Given the description of an element on the screen output the (x, y) to click on. 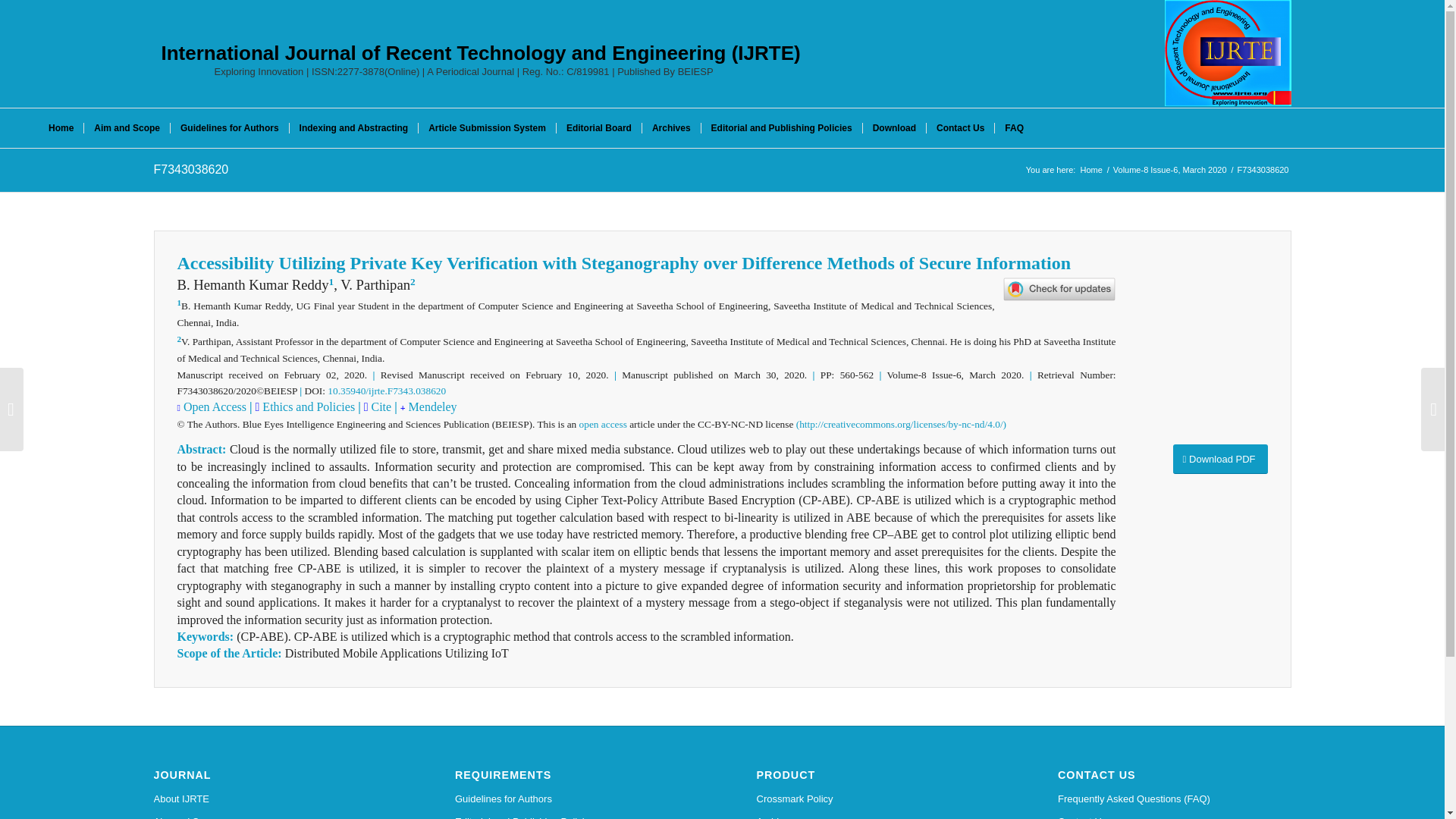
Aim and Scope (269, 814)
Cite (382, 406)
FAQ (1013, 127)
Download (893, 127)
Contact Us (960, 127)
Guidelines for Authors (571, 798)
Permanent Link: F7343038620 (190, 169)
Home (1090, 170)
Article Submission System (486, 127)
F7343038620 (190, 169)
Ethics and Policies (307, 406)
About IJRTE (269, 798)
Home (60, 127)
Open Access (214, 406)
Editorial Board (599, 127)
